Given the description of an element on the screen output the (x, y) to click on. 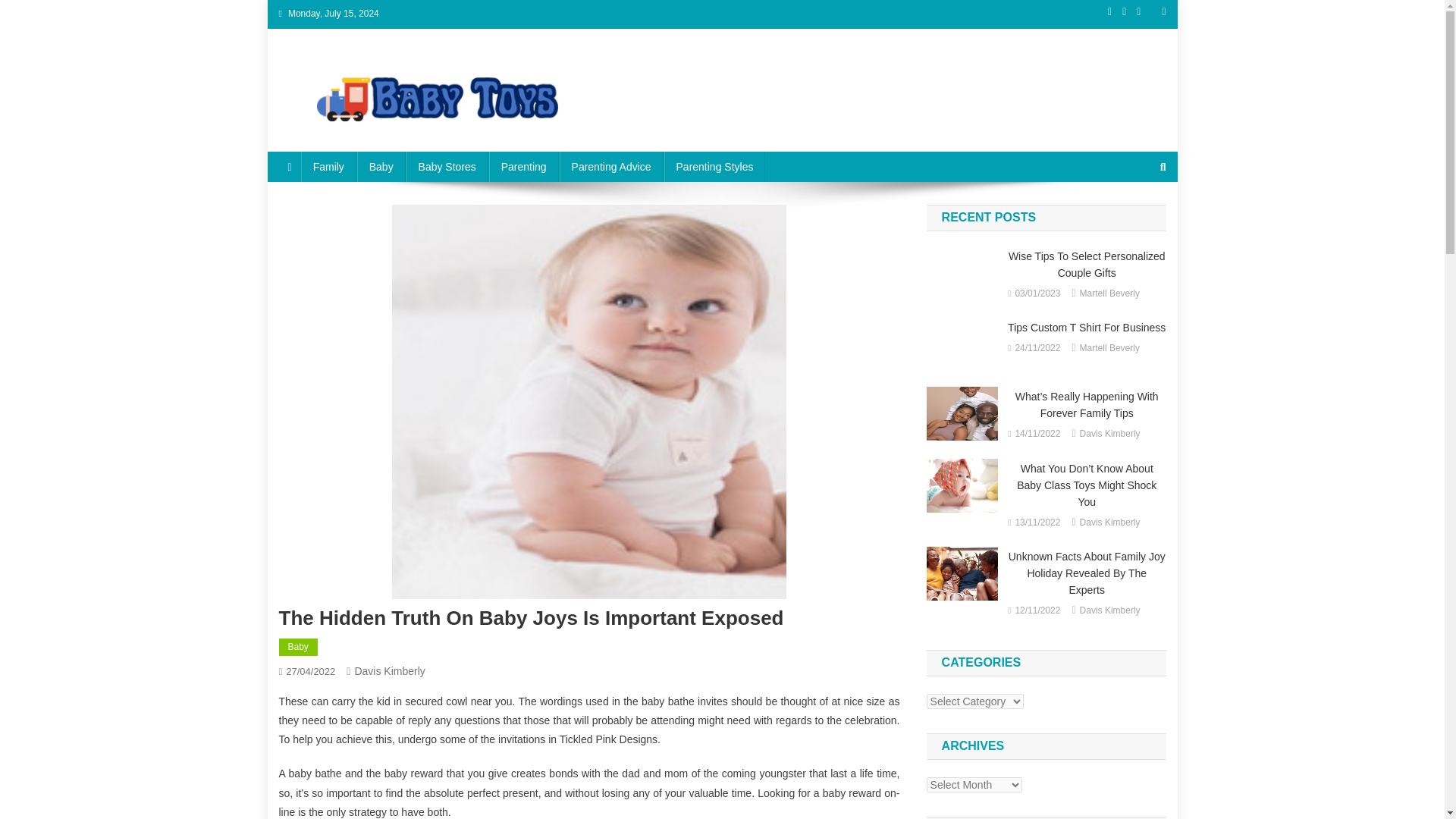
Baby Toys (338, 135)
What's Really Happening With Forever Family Tips 8 (962, 413)
Davis Kimberly (389, 671)
Wise Tips To Select Personalized Couple Gifts (1086, 264)
Baby (381, 166)
Family (328, 166)
Search (1133, 251)
Parenting (524, 166)
Baby Stores (446, 166)
Wise Tips to Select Personalized Couple Gifts 6 (962, 273)
Parenting Styles (714, 166)
Tips Custom T Shirt for Business 7 (962, 344)
Baby (298, 647)
